Given the description of an element on the screen output the (x, y) to click on. 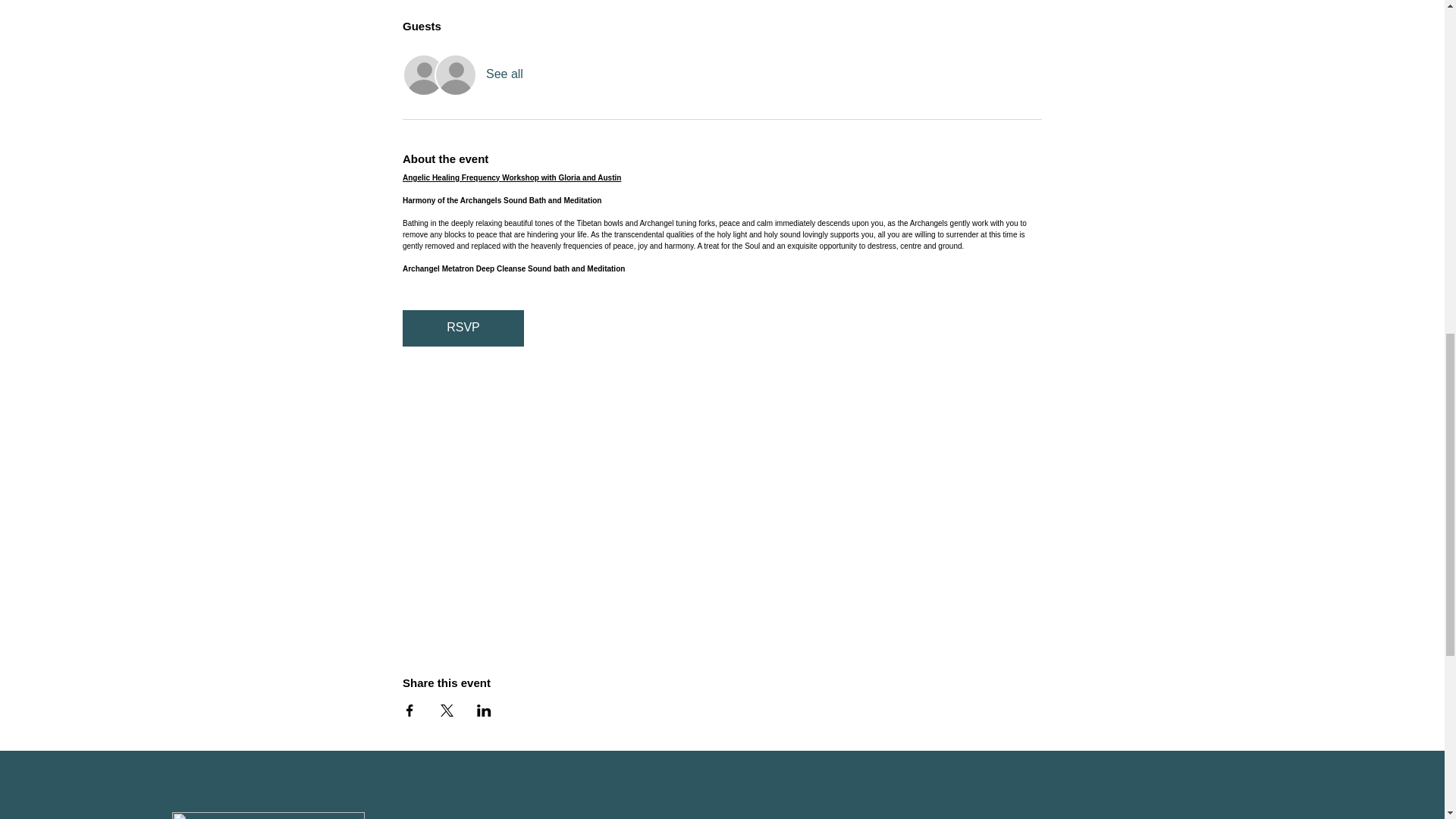
RSVP (463, 328)
See all (504, 74)
Anam Croi House Transparent.png (268, 815)
